Given the description of an element on the screen output the (x, y) to click on. 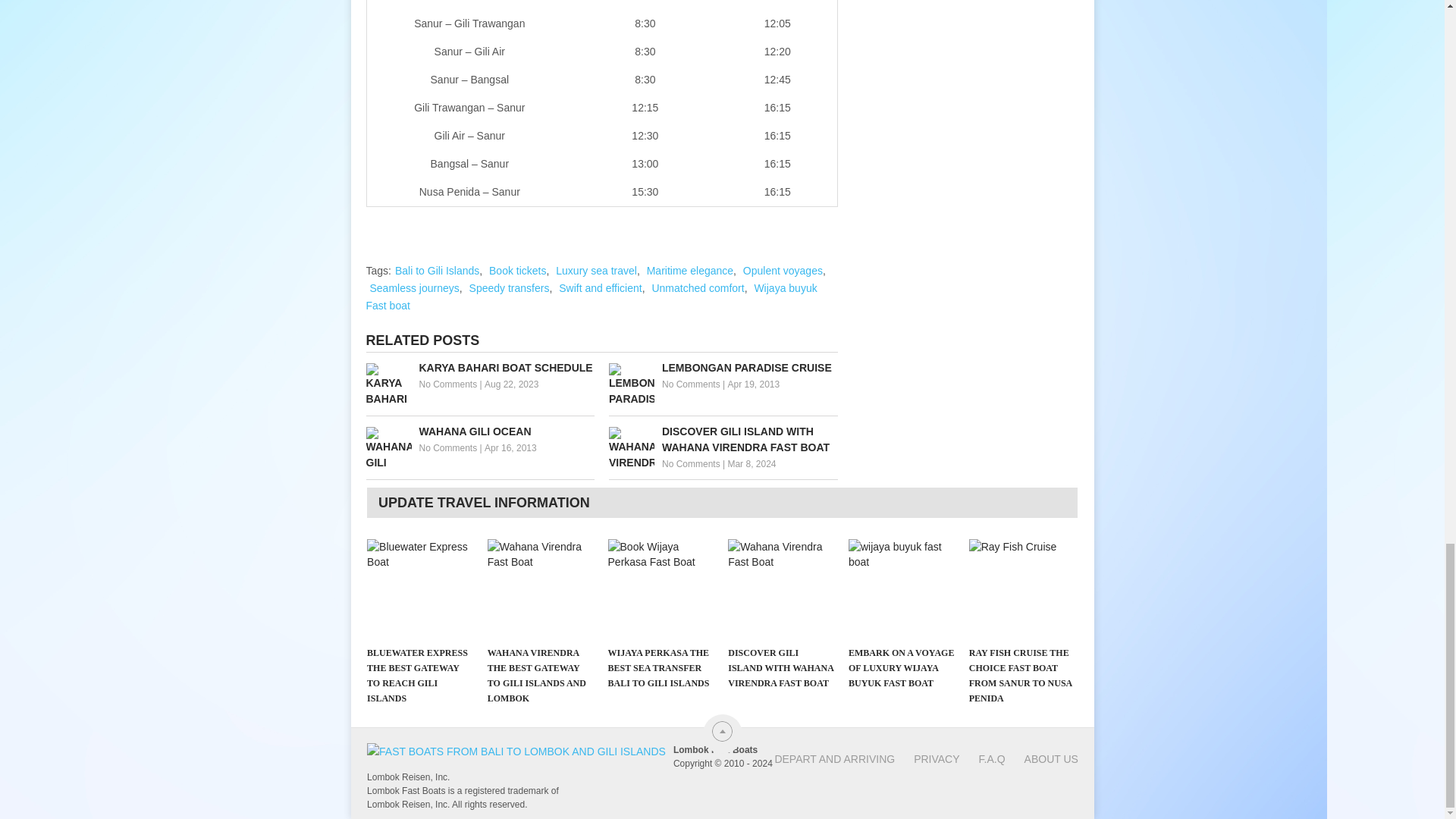
Book tickets (517, 270)
Speedy transfers (509, 287)
Discover Gili Island with Wahana Virendra Fast Boat (723, 439)
Lembongan Paradise Cruise (723, 367)
Karya Bahari Boat Schedule (479, 367)
Wijaya Perkasa The Best Sea Transfer Bali to Gili Islands (661, 588)
Luxury sea travel (596, 270)
No Comments (691, 463)
KARYA BAHARI BOAT SCHEDULE (479, 367)
Wijaya buyuk Fast boat (590, 296)
